Given the description of an element on the screen output the (x, y) to click on. 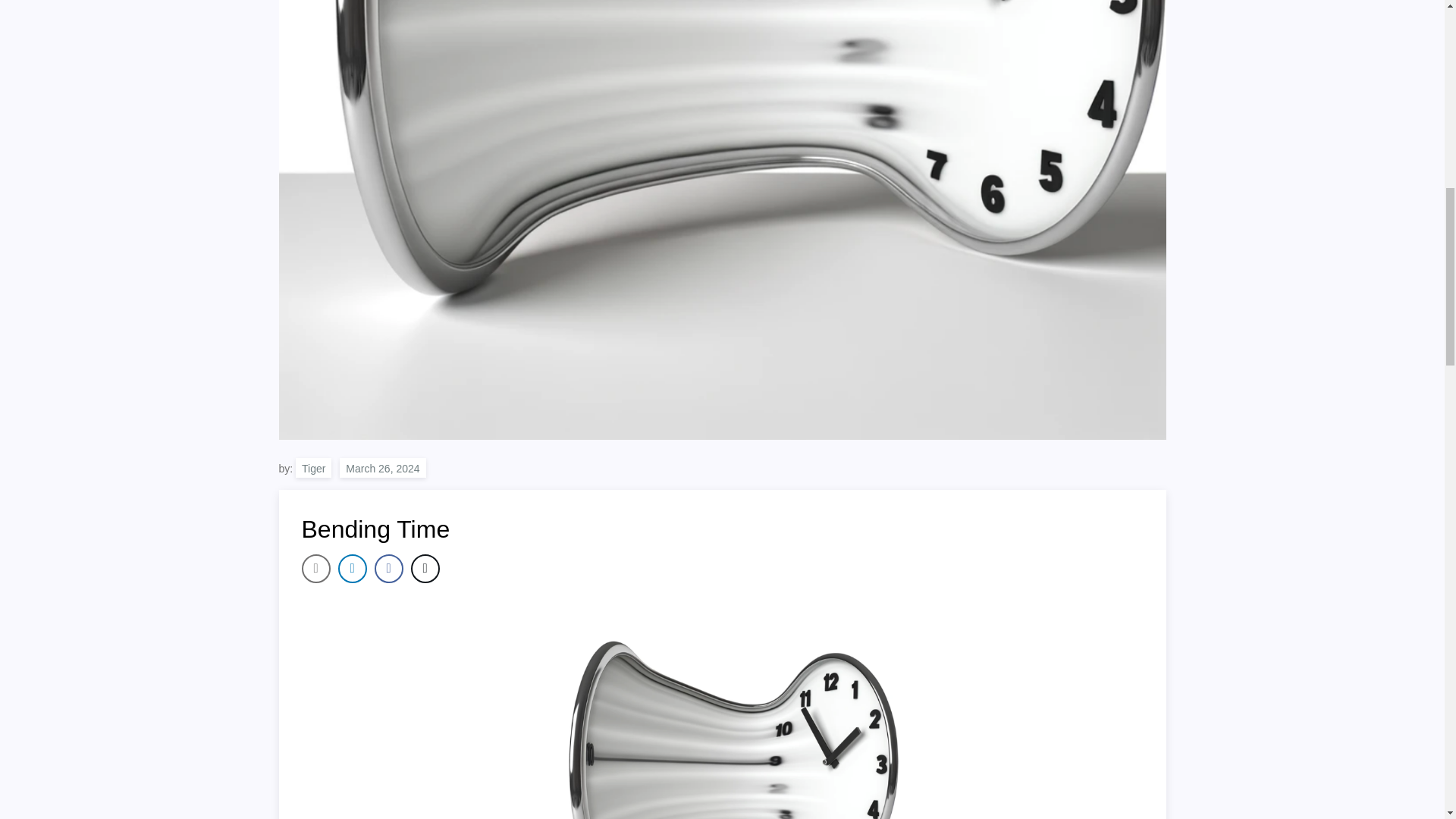
Tiger (313, 467)
March 26, 2024 (382, 467)
